Given the description of an element on the screen output the (x, y) to click on. 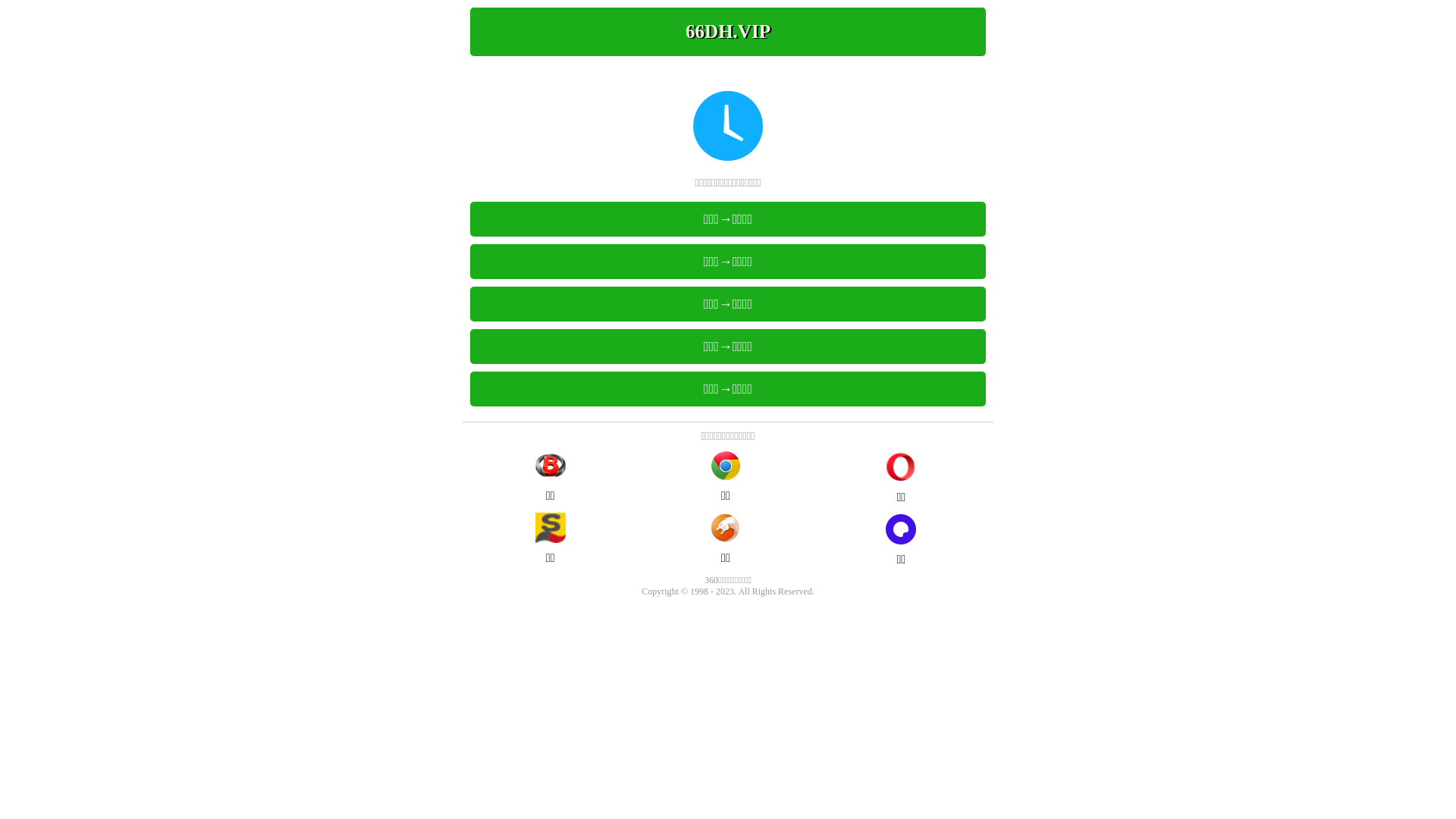
66DH.VIP Element type: text (727, 31)
